Given the description of an element on the screen output the (x, y) to click on. 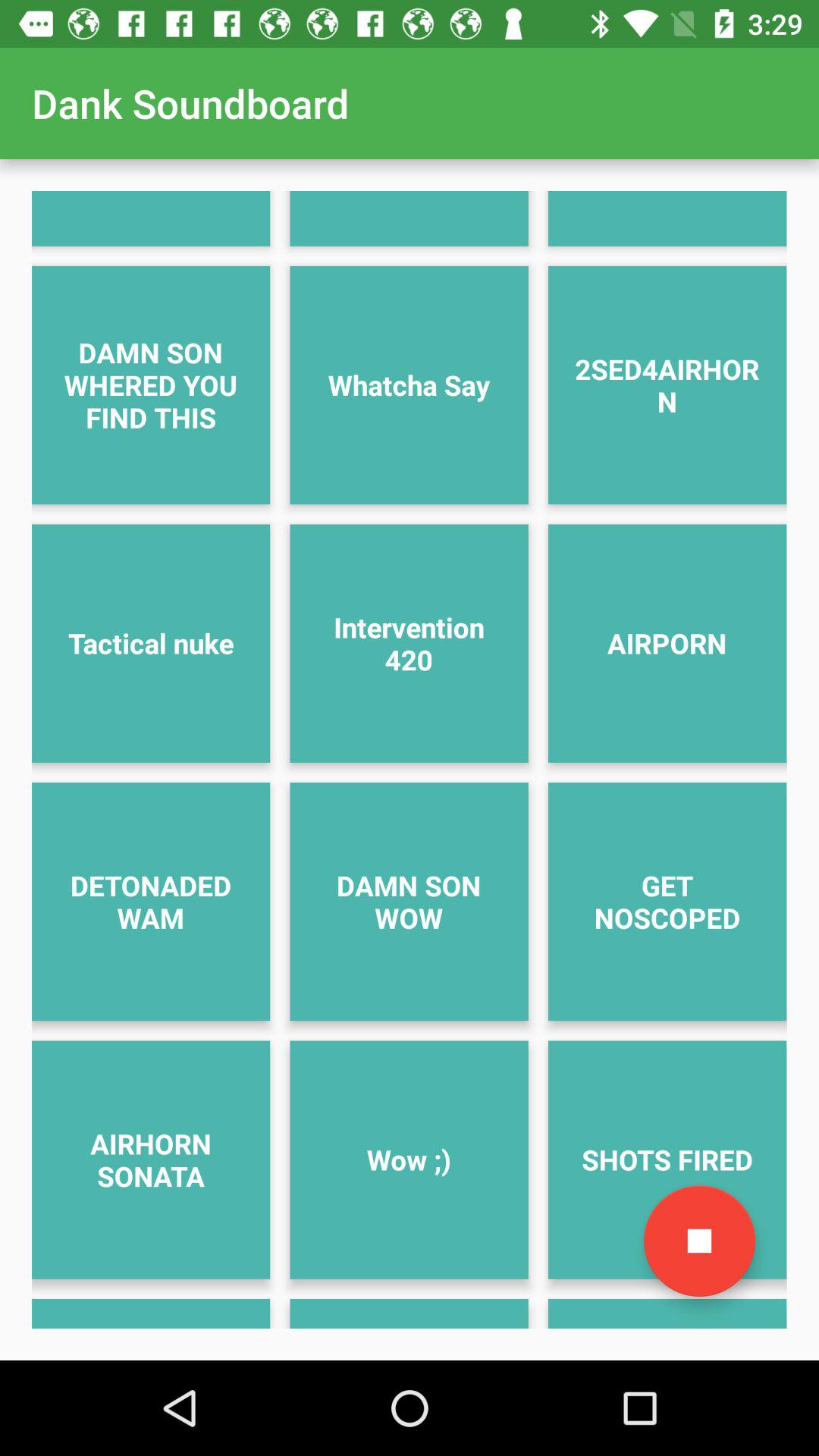
photo button (699, 1240)
